Given the description of an element on the screen output the (x, y) to click on. 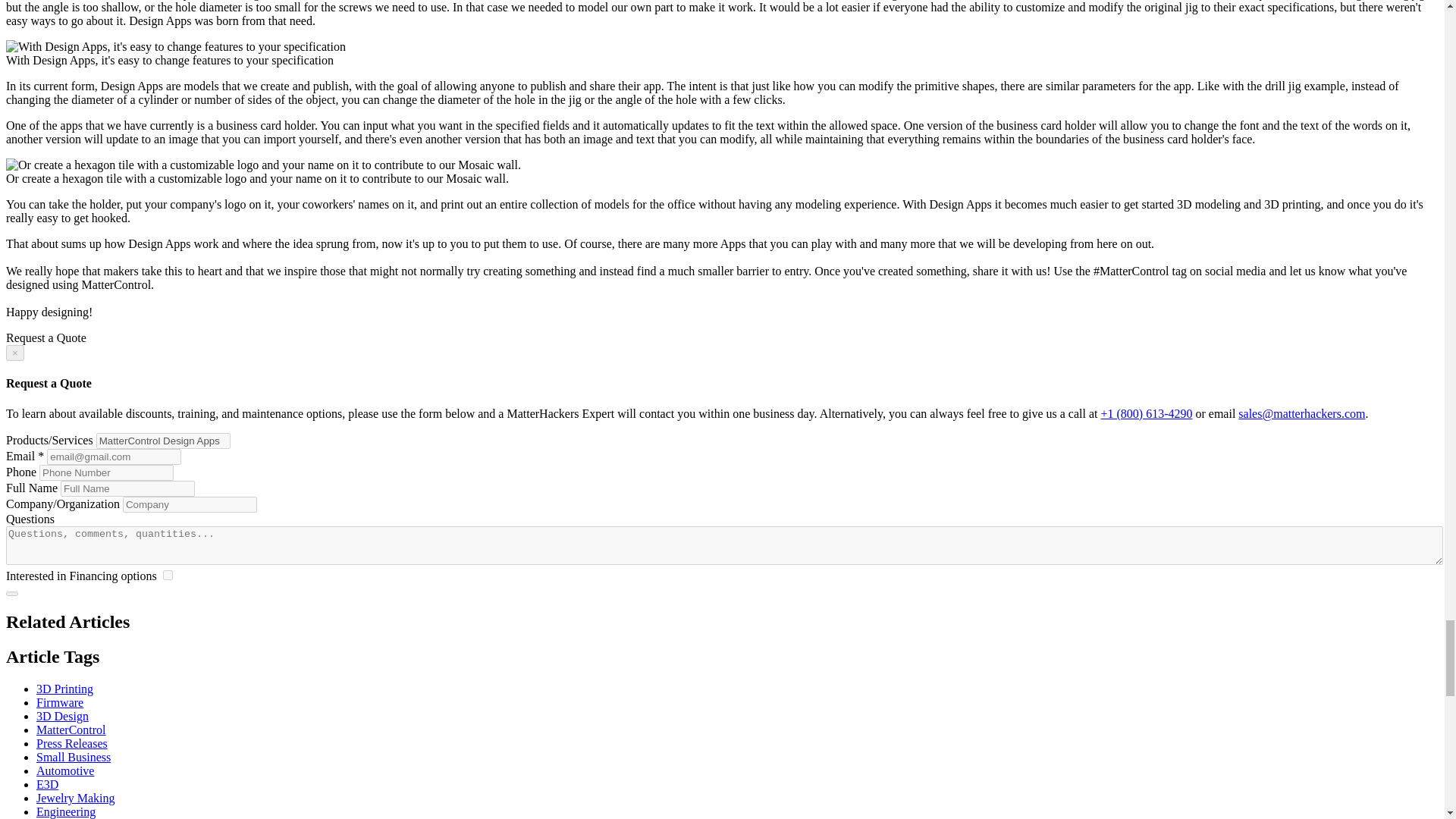
MatterControl Design Apps (163, 440)
on (168, 574)
